Given the description of an element on the screen output the (x, y) to click on. 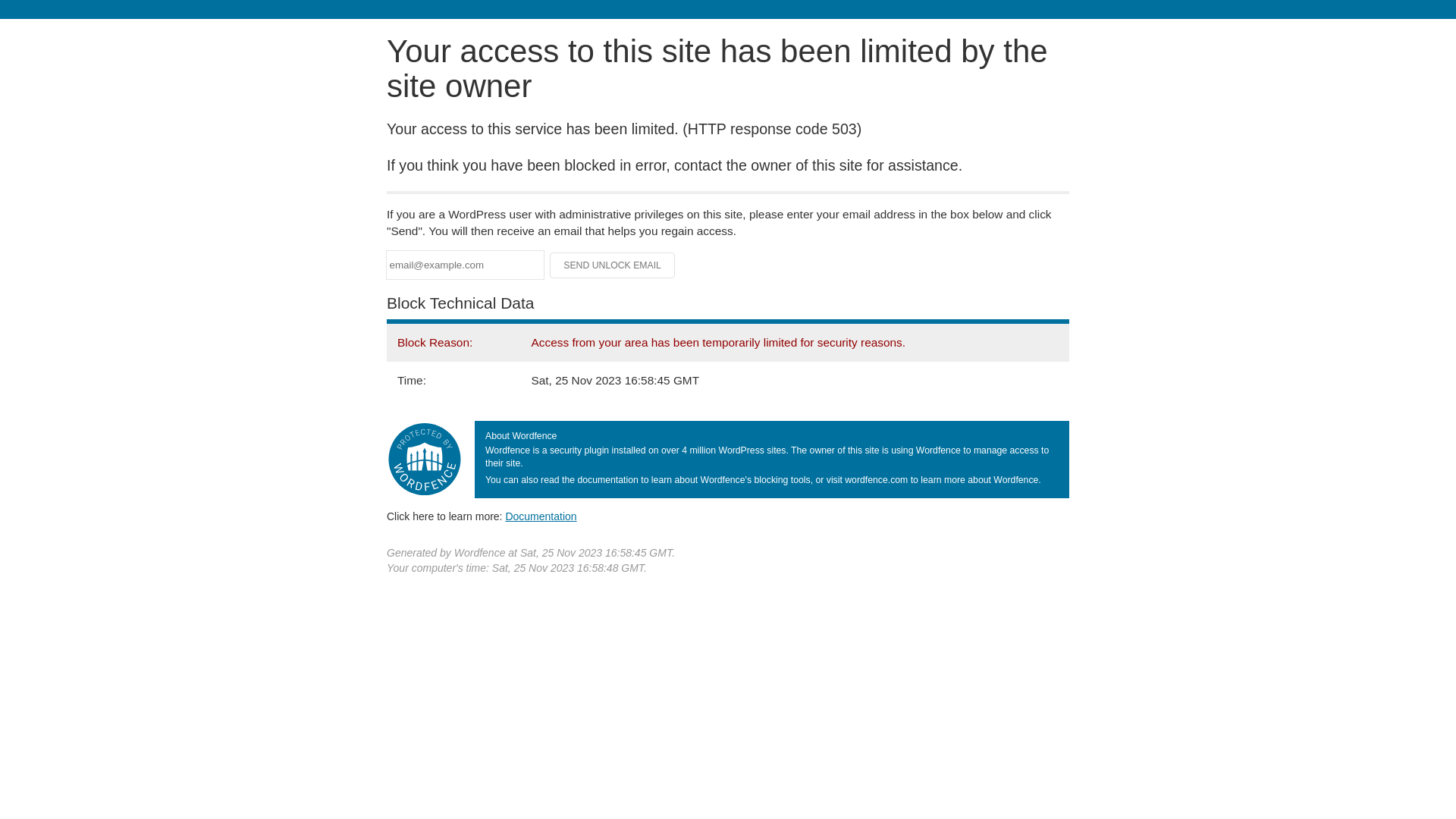
Documentation Element type: text (540, 516)
Send Unlock Email Element type: text (612, 265)
